Given the description of an element on the screen output the (x, y) to click on. 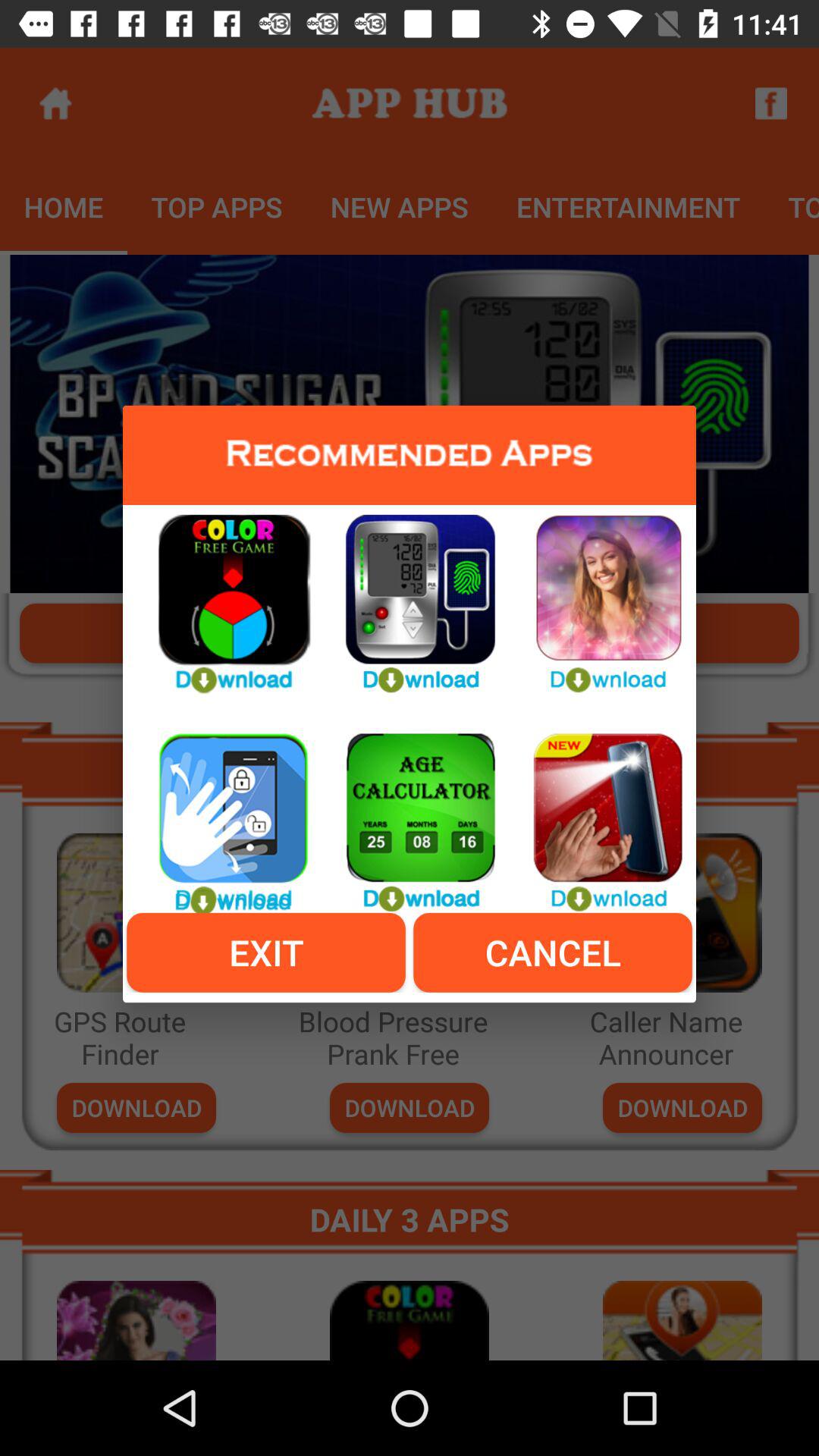
click to download apps for flash light (596, 813)
